Given the description of an element on the screen output the (x, y) to click on. 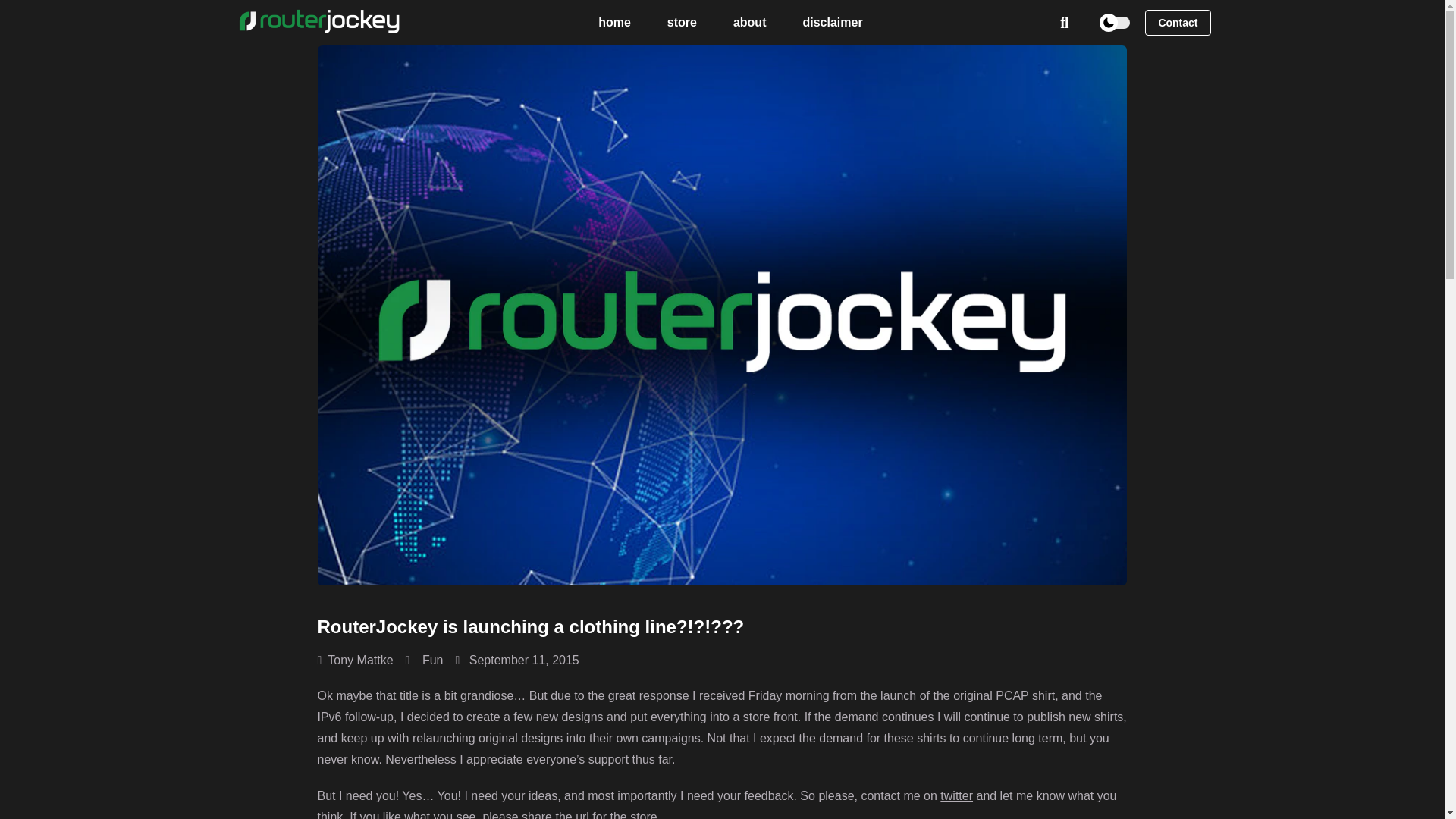
twitter (956, 795)
Fun (433, 659)
url for the store (616, 814)
Contact (1176, 22)
disclaimer (831, 22)
home (614, 22)
store (682, 22)
Tony Mattke (355, 659)
about (749, 22)
